Given the description of an element on the screen output the (x, y) to click on. 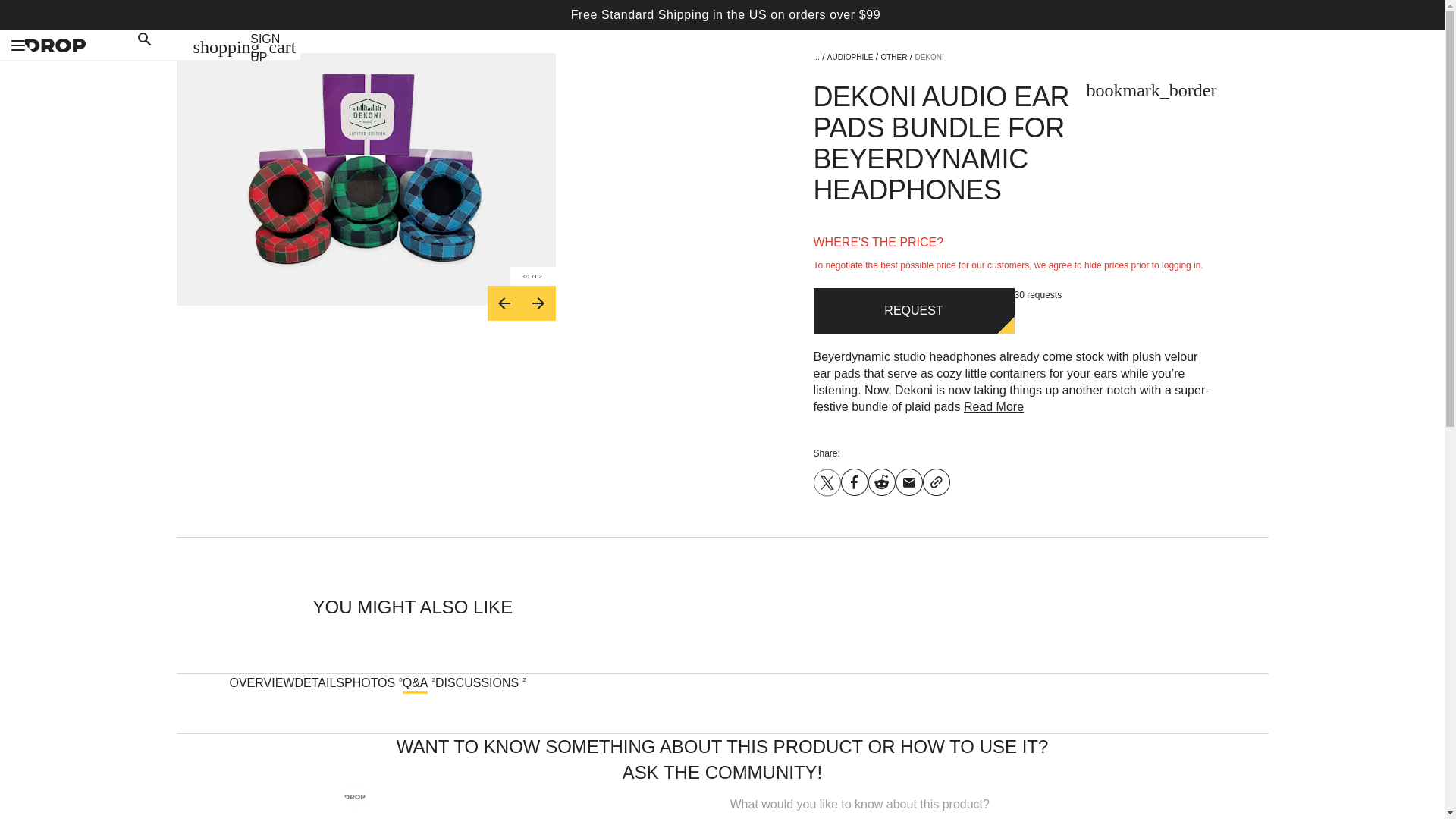
OTHER (893, 57)
- (538, 303)
DEKONI (928, 57)
- (503, 303)
AUDIOPHILE (850, 57)
SIGN UP (264, 47)
